Given the description of an element on the screen output the (x, y) to click on. 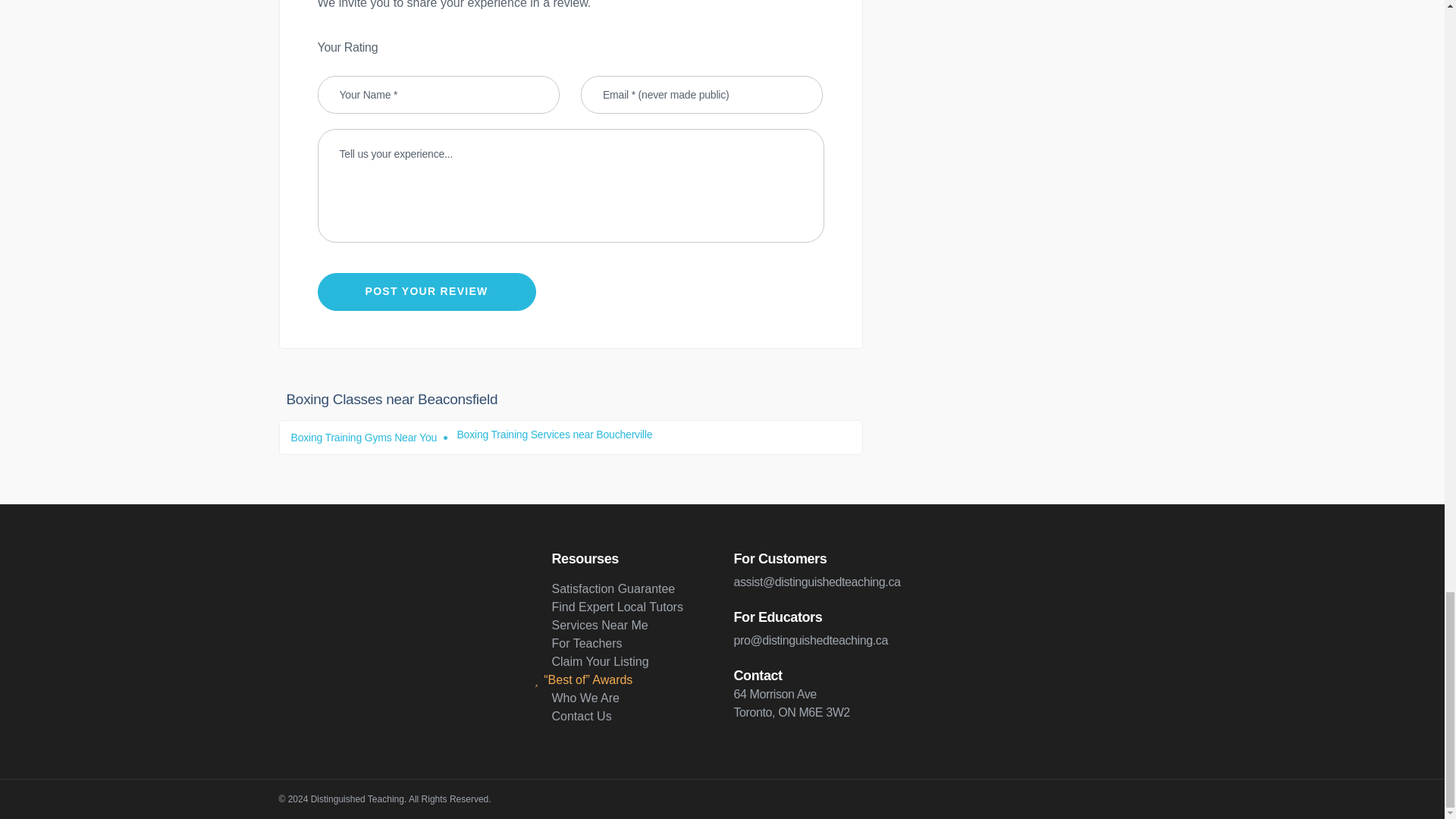
Really bad - 1 star (392, 47)
Excellent - 5 stars (453, 47)
Post your review (426, 291)
Good - 3 stars (422, 47)
Very good - 4 stars (437, 47)
Bad - 2 stars (407, 47)
